Given the description of an element on the screen output the (x, y) to click on. 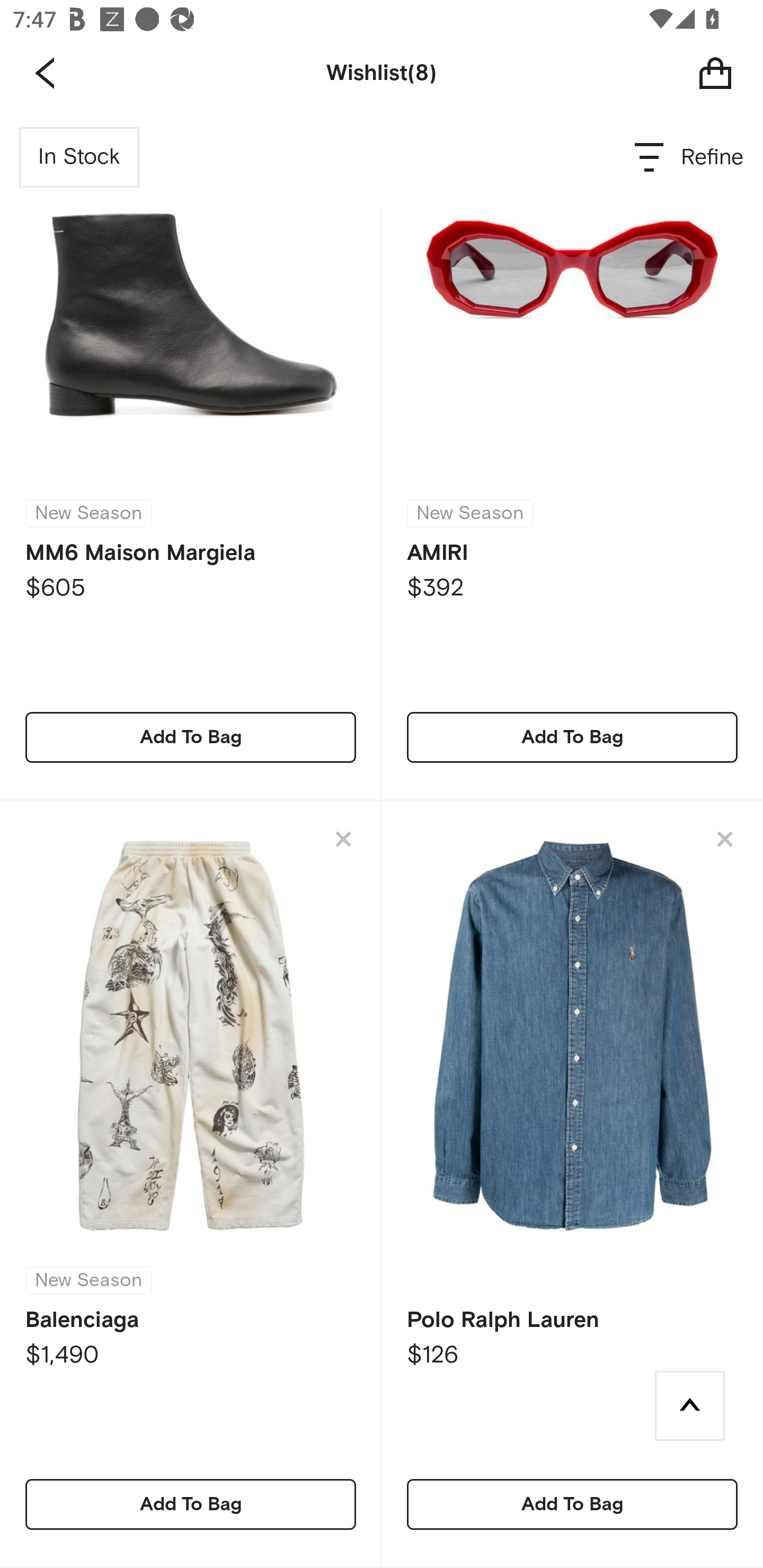
New Season MM6 Maison Margiela $605 Add To Bag (190, 454)
New Season AMIRI $392 Add To Bag (572, 454)
In Stock (79, 157)
Refine (690, 157)
Add To Bag (190, 737)
Add To Bag (571, 737)
New Season Balenciaga $1,490 Add To Bag (190, 1184)
Polo Ralph Lauren $126 Add To Bag (572, 1184)
Add To Bag (190, 1504)
Add To Bag (571, 1504)
